Given the description of an element on the screen output the (x, y) to click on. 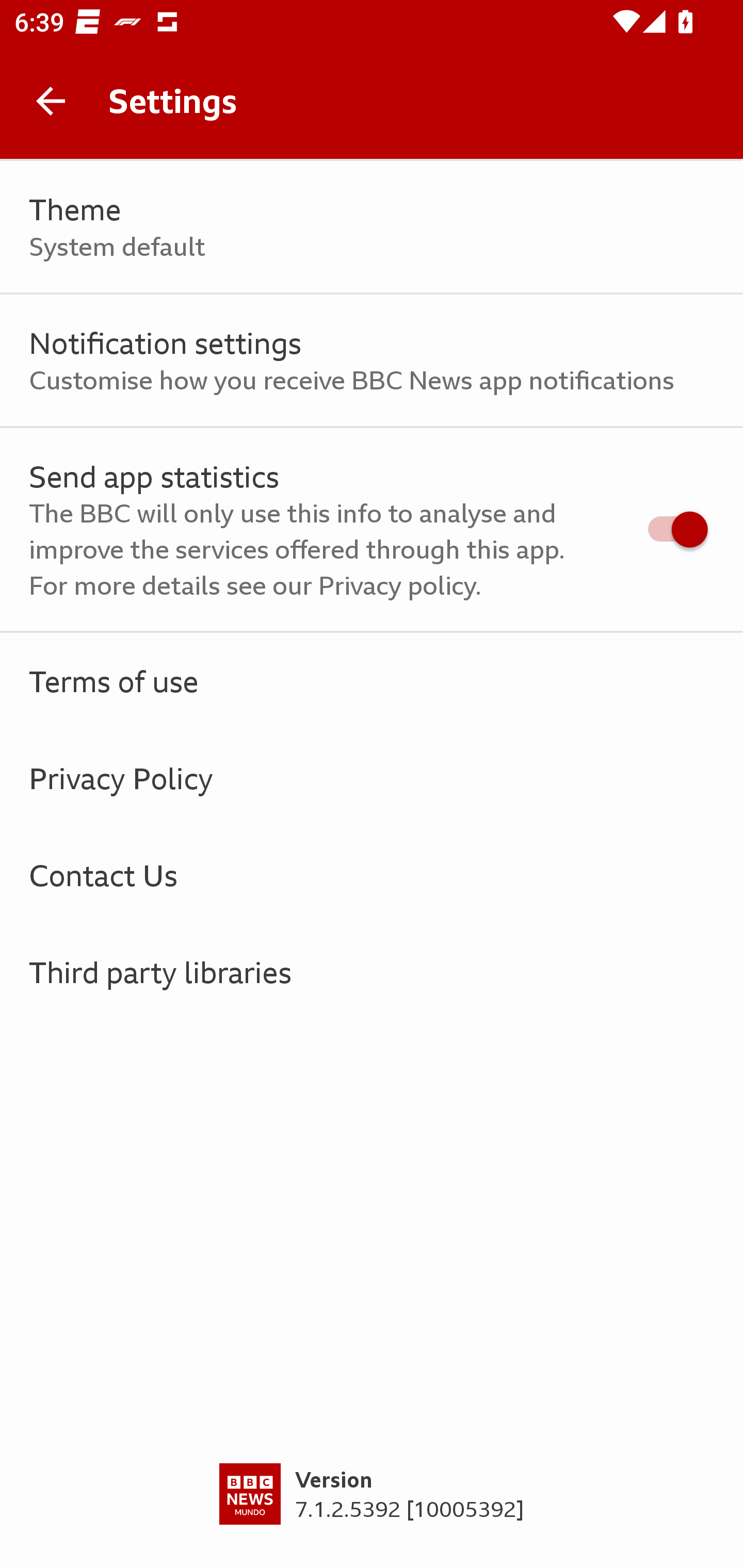
Back (50, 101)
Theme System default (371, 227)
Terms of use (371, 681)
Privacy Policy (371, 777)
Contact Us (371, 874)
Third party libraries (371, 971)
Version 7.1.2.5392 [10005392] (371, 1515)
